Given the description of an element on the screen output the (x, y) to click on. 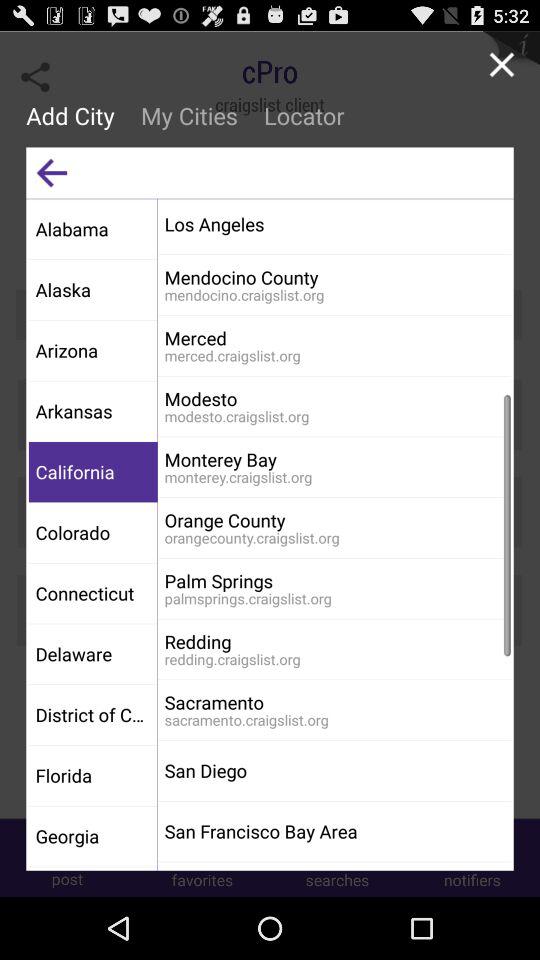
go back (51, 172)
